Given the description of an element on the screen output the (x, y) to click on. 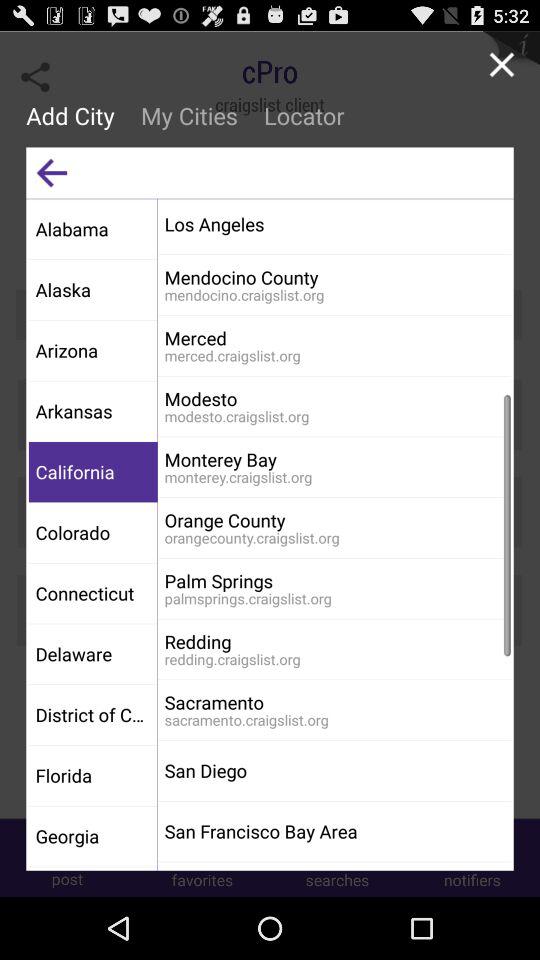
go back (51, 172)
